Given the description of an element on the screen output the (x, y) to click on. 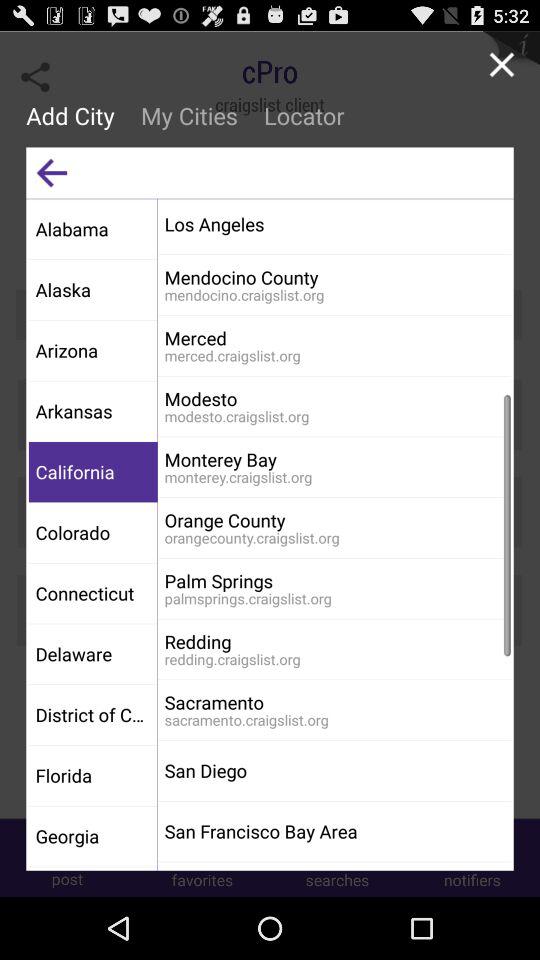
go back (51, 172)
